Given the description of an element on the screen output the (x, y) to click on. 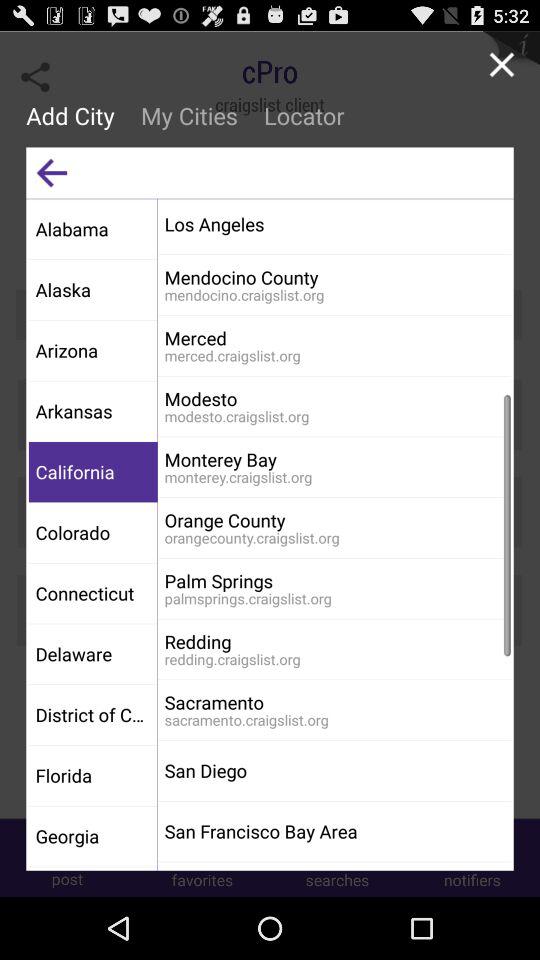
go back (51, 172)
